Given the description of an element on the screen output the (x, y) to click on. 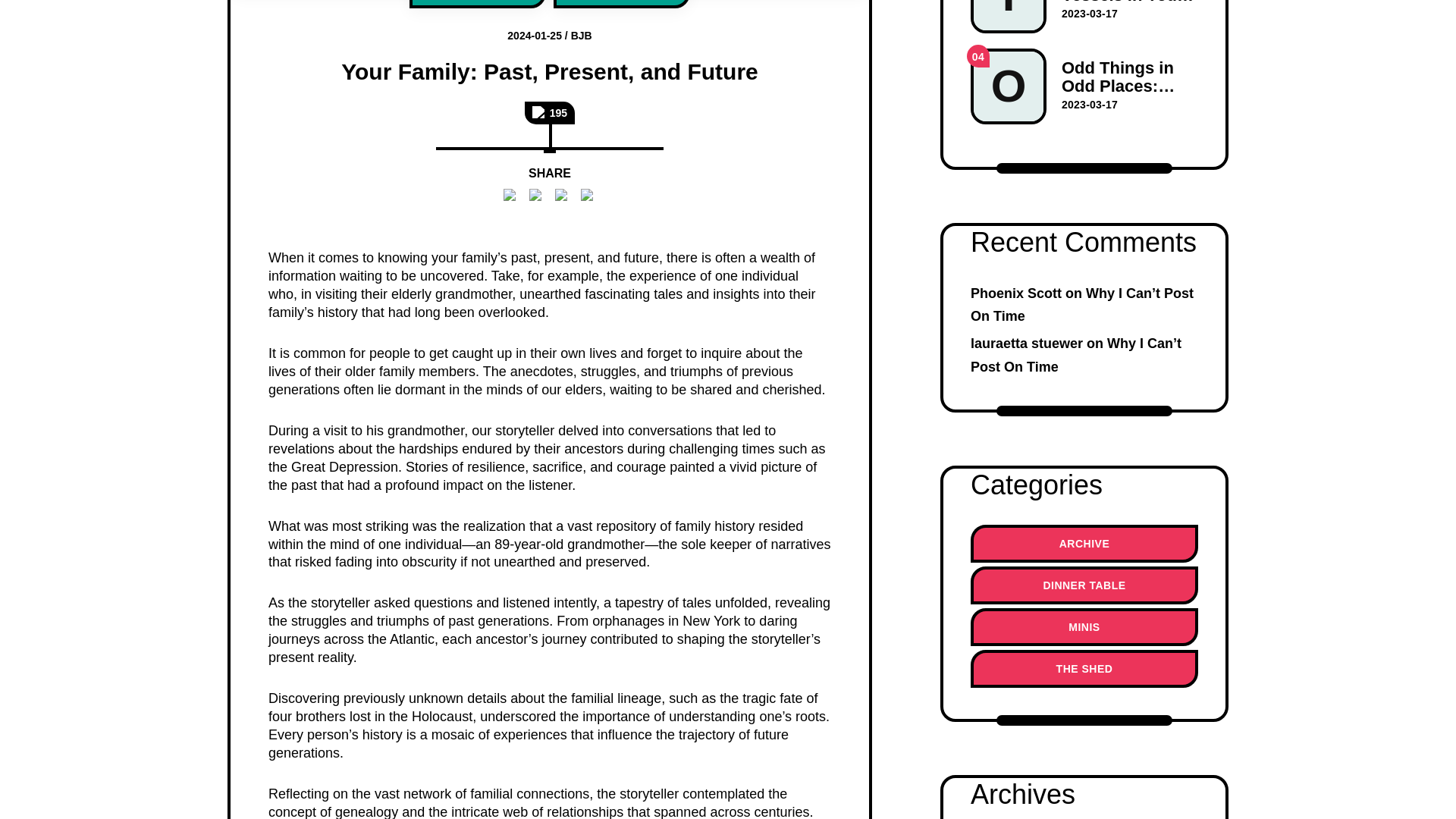
BJB (581, 35)
DINNER TABLE (621, 4)
VKontakte (588, 196)
ARCHIVE (477, 4)
The Blood Vessels in Your Hand (1084, 16)
Facebook (510, 196)
Twitter (537, 196)
195 Views (549, 112)
Odd Things in Odd Places: Intro (1084, 86)
Pinterest (562, 196)
